Given the description of an element on the screen output the (x, y) to click on. 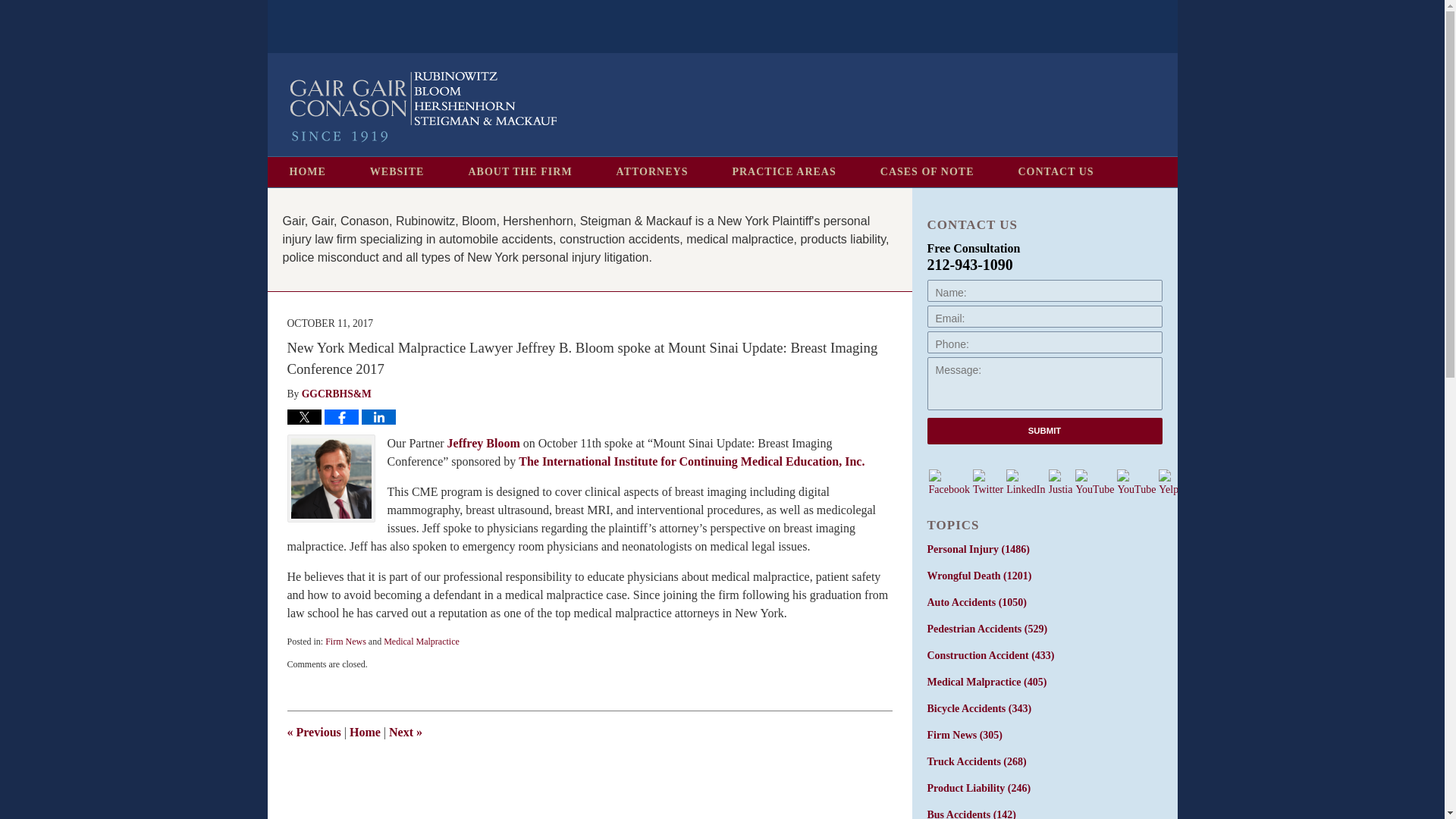
LinkedIn (1025, 483)
Facebook (948, 483)
Facebook (948, 483)
ABOUT THE FIRM (519, 172)
View all posts in Medical Malpractice (422, 641)
ATTORNEYS (652, 172)
YouTube (1136, 483)
PRACTICE AREAS (783, 172)
HOME (306, 172)
